Given the description of an element on the screen output the (x, y) to click on. 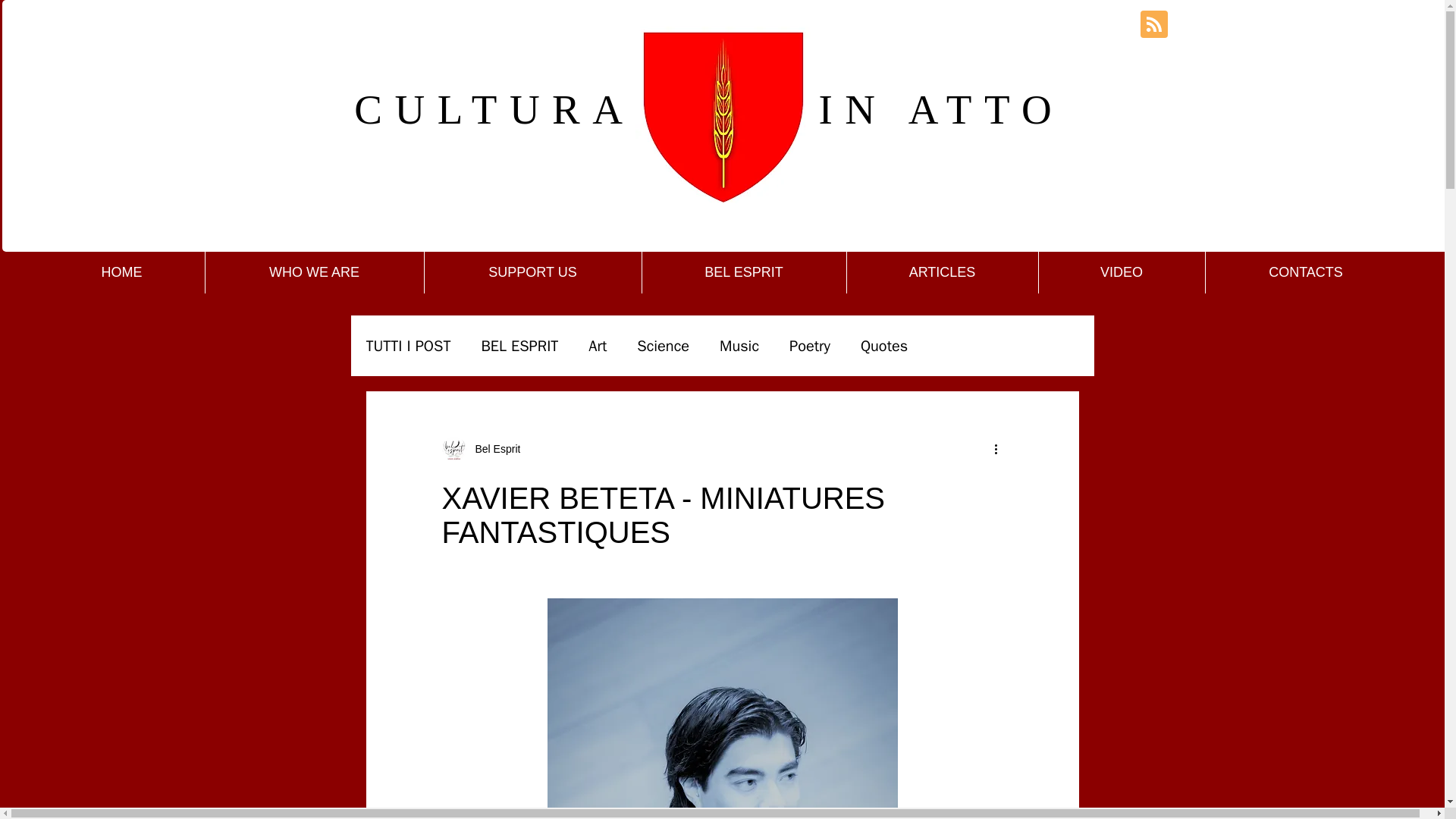
WHO WE ARE (314, 272)
BEL ESPRIT (518, 344)
BEL ESPRIT (743, 272)
CONTACTS (1305, 272)
torna a home (722, 115)
TUTTI I POST (407, 344)
HOME (122, 272)
Music (738, 344)
Art (597, 344)
ARTICLES (940, 272)
